Given the description of an element on the screen output the (x, y) to click on. 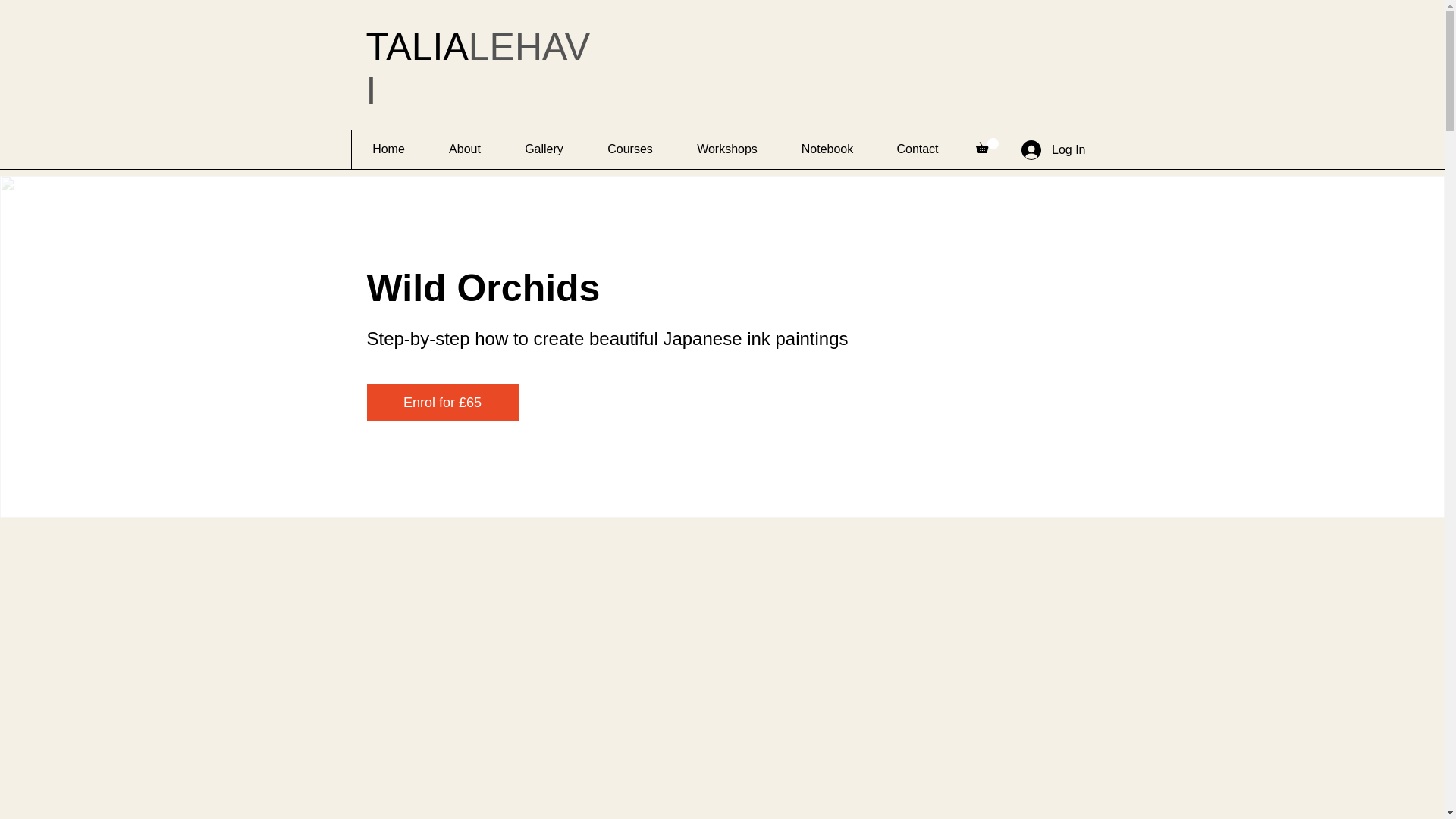
Gallery (543, 149)
Home (388, 149)
Workshops (726, 149)
Notebook (826, 149)
Log In (1053, 149)
About (464, 149)
Contact (917, 149)
Courses (630, 149)
TALIALEHAVI (477, 68)
